Given the description of an element on the screen output the (x, y) to click on. 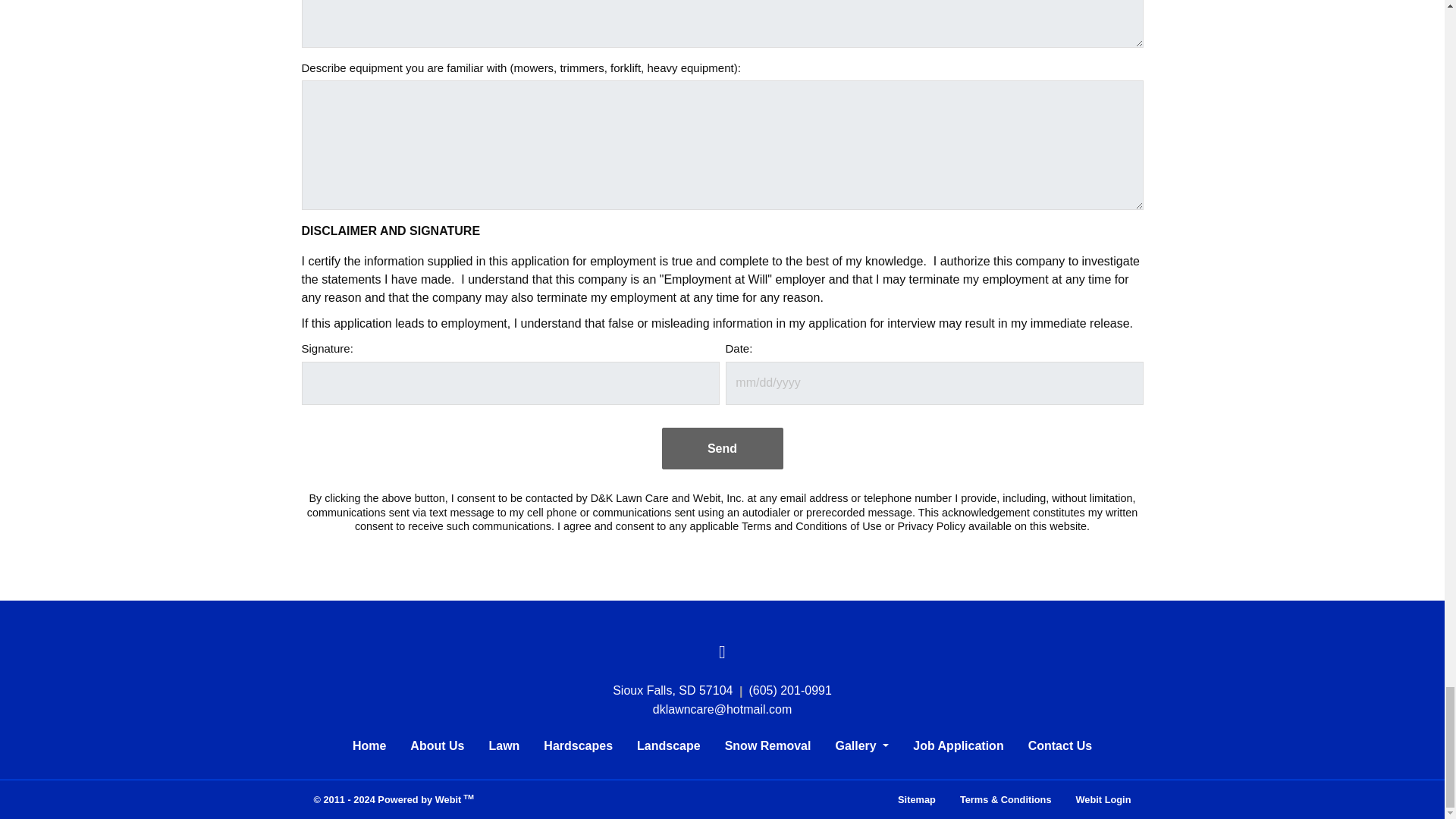
Job Application (957, 746)
Snow Removal (768, 746)
Send (722, 448)
Webit Login (1103, 799)
Landscape (668, 746)
Sitemap (916, 799)
Lawn (503, 746)
Hardscapes (577, 746)
About Us (436, 746)
Contact Us (1059, 746)
Home (368, 746)
Gallery (861, 746)
